Given the description of an element on the screen output the (x, y) to click on. 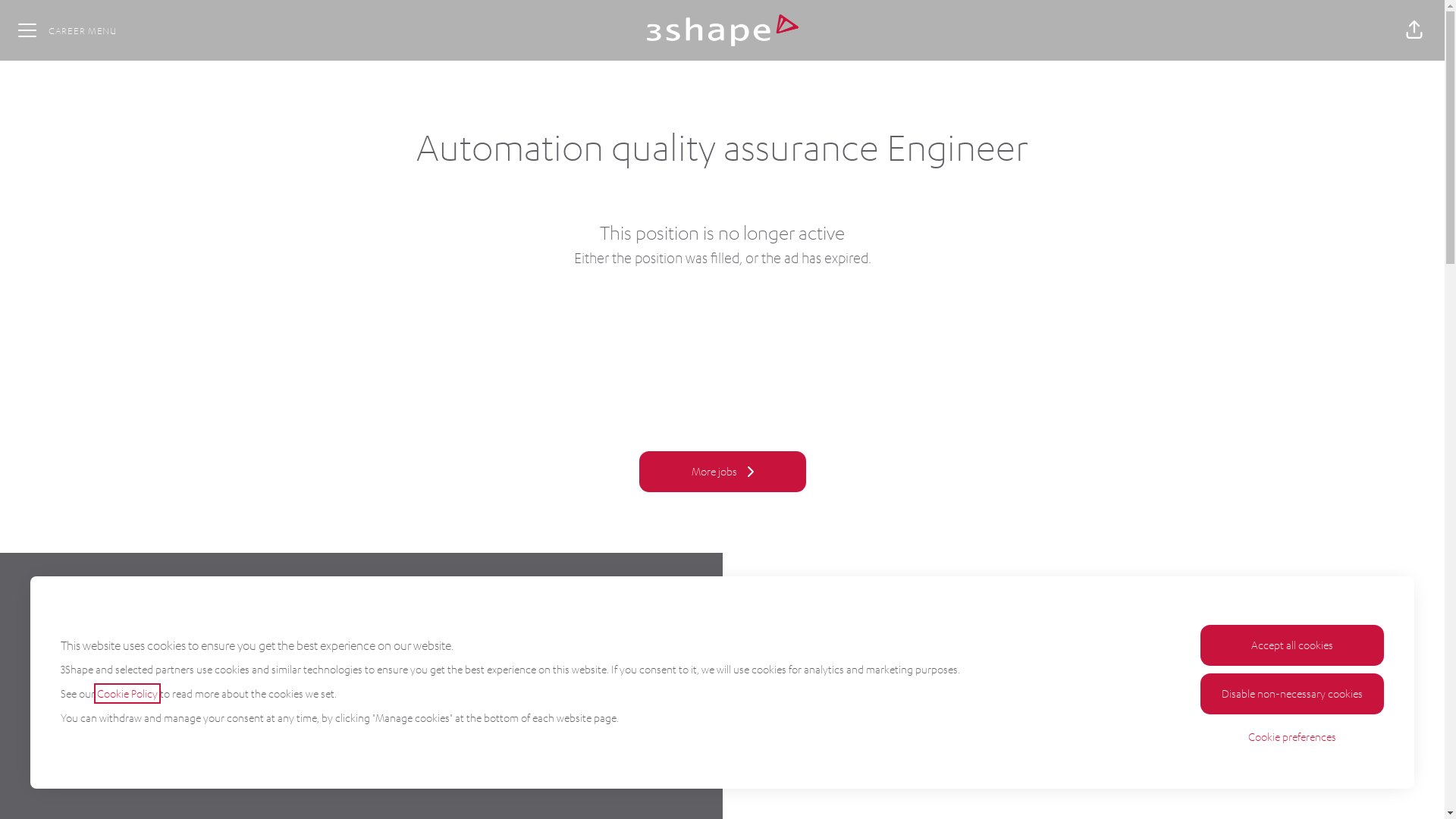
Accept all cookies Element type: text (1291, 644)
More jobs Element type: text (721, 471)
Share page Element type: hover (1414, 30)
Cookie Policy Element type: text (127, 693)
Disable non-necessary cookies Element type: text (1291, 693)
View page Element type: text (360, 745)
Cookie preferences Element type: text (1292, 736)
CAREER MENU Element type: text (67, 30)
Directions Element type: text (360, 722)
